Given the description of an element on the screen output the (x, y) to click on. 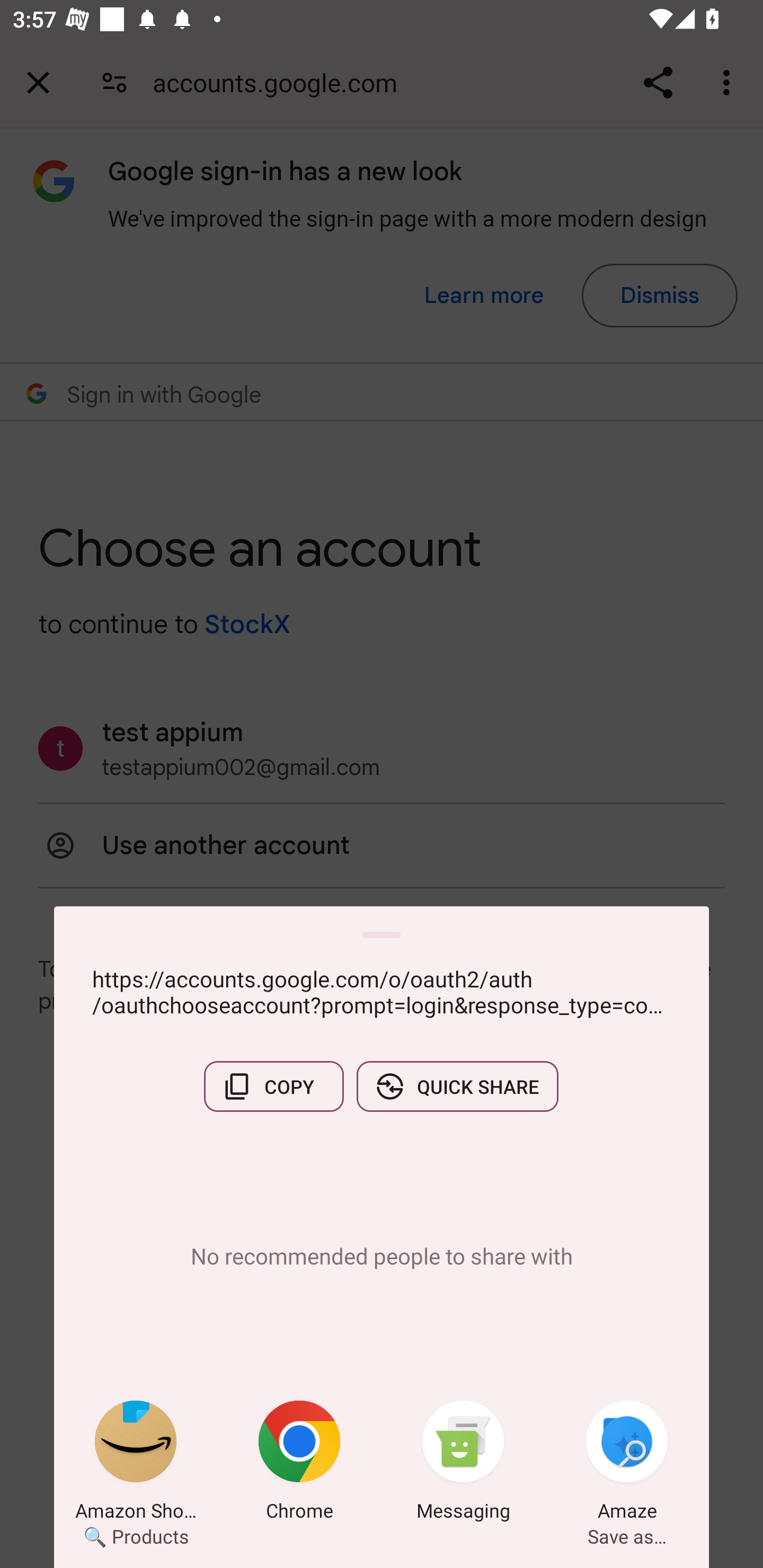
COPY (273, 1086)
QUICK SHARE (457, 1086)
Amazon Shopping 🔍 Products (135, 1463)
Chrome (299, 1463)
Messaging (463, 1463)
Amaze Save as… (626, 1463)
